Given the description of an element on the screen output the (x, y) to click on. 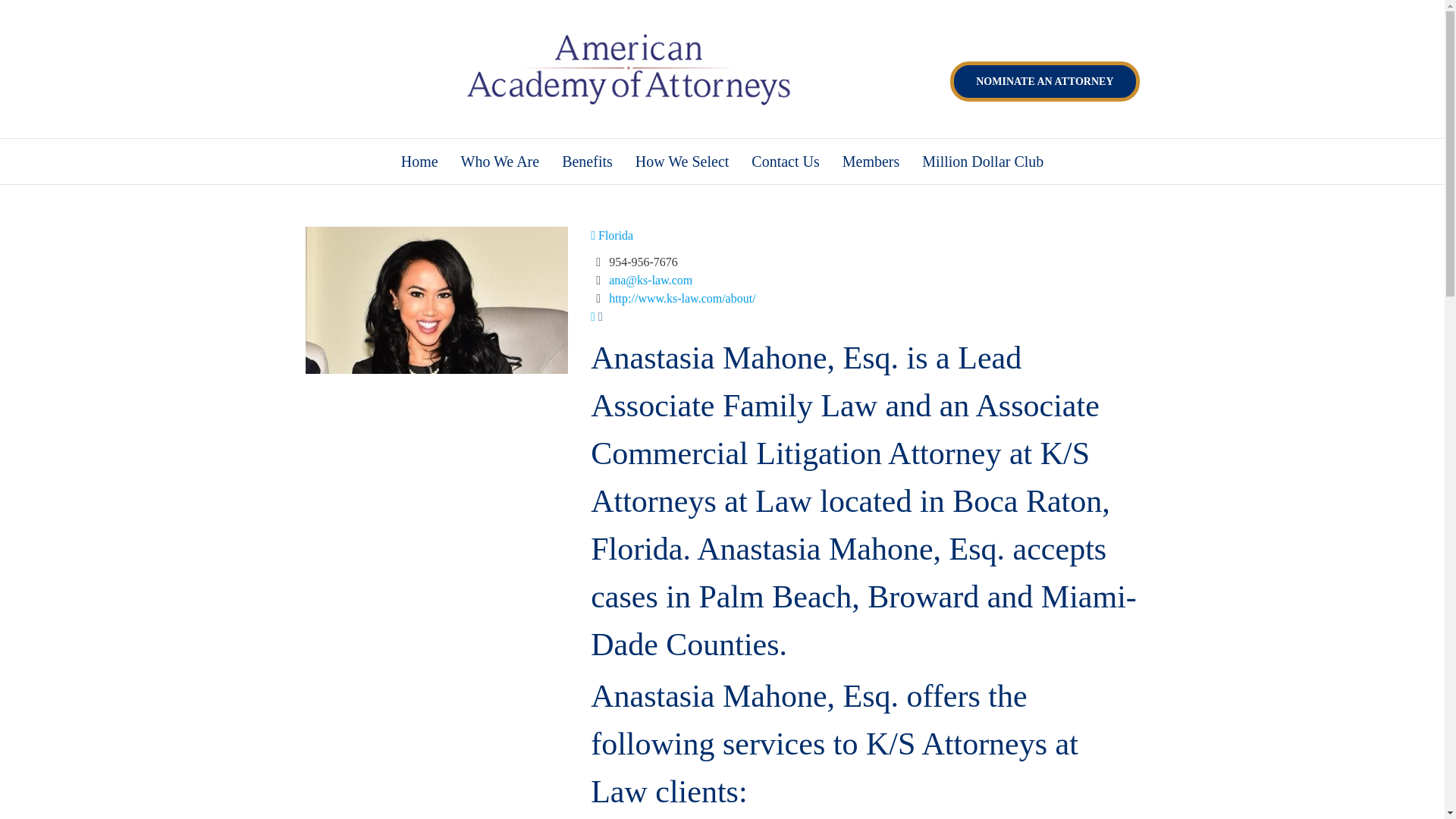
Florida (612, 235)
How We Select (681, 161)
Million Dollar Club (982, 161)
Contact Us (784, 161)
Members (871, 161)
Who We Are (500, 161)
NOMINATE AN ATTORNEY (1044, 81)
Benefits (587, 161)
